Given the description of an element on the screen output the (x, y) to click on. 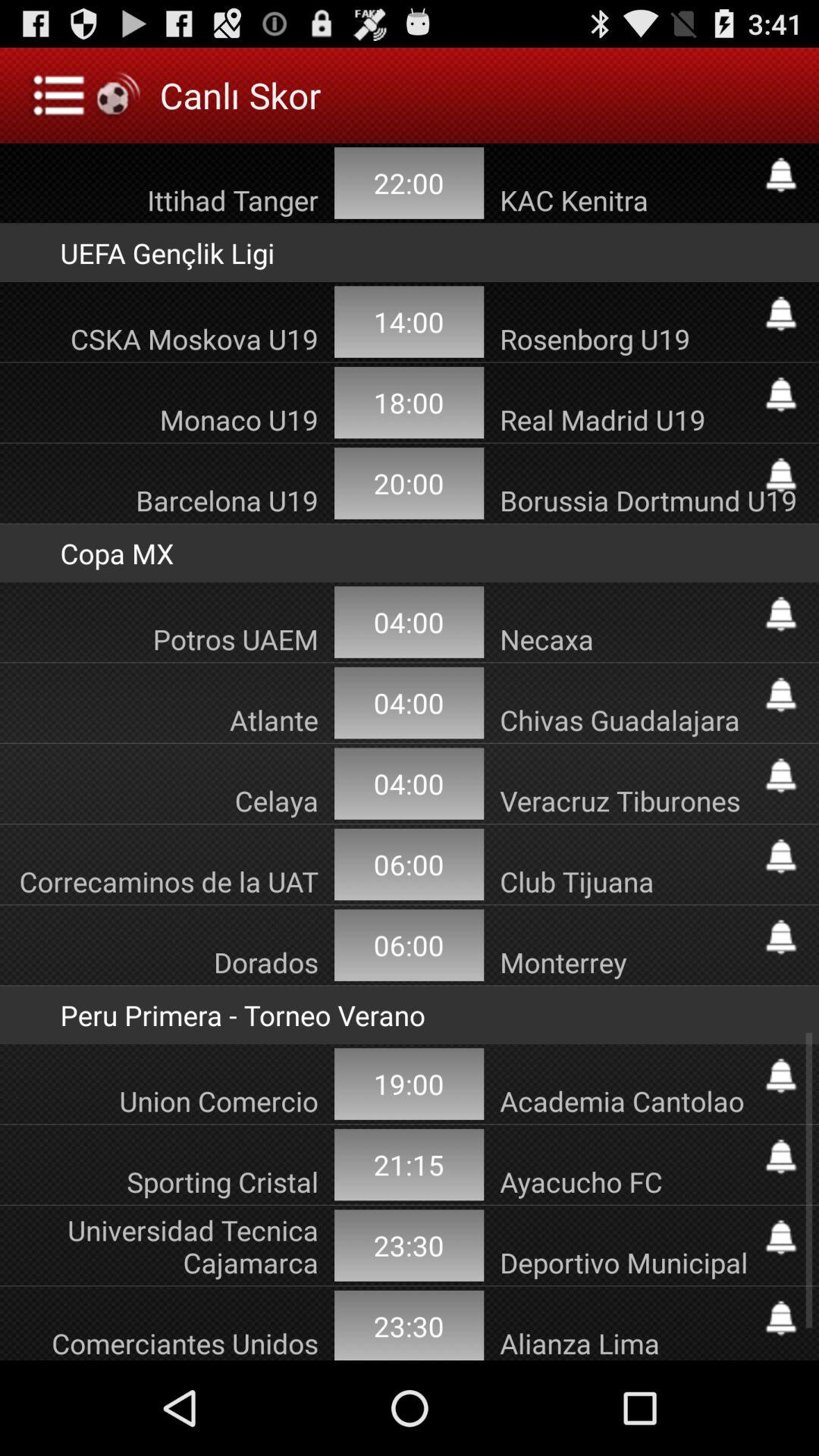
turn on notifications (780, 856)
